Given the description of an element on the screen output the (x, y) to click on. 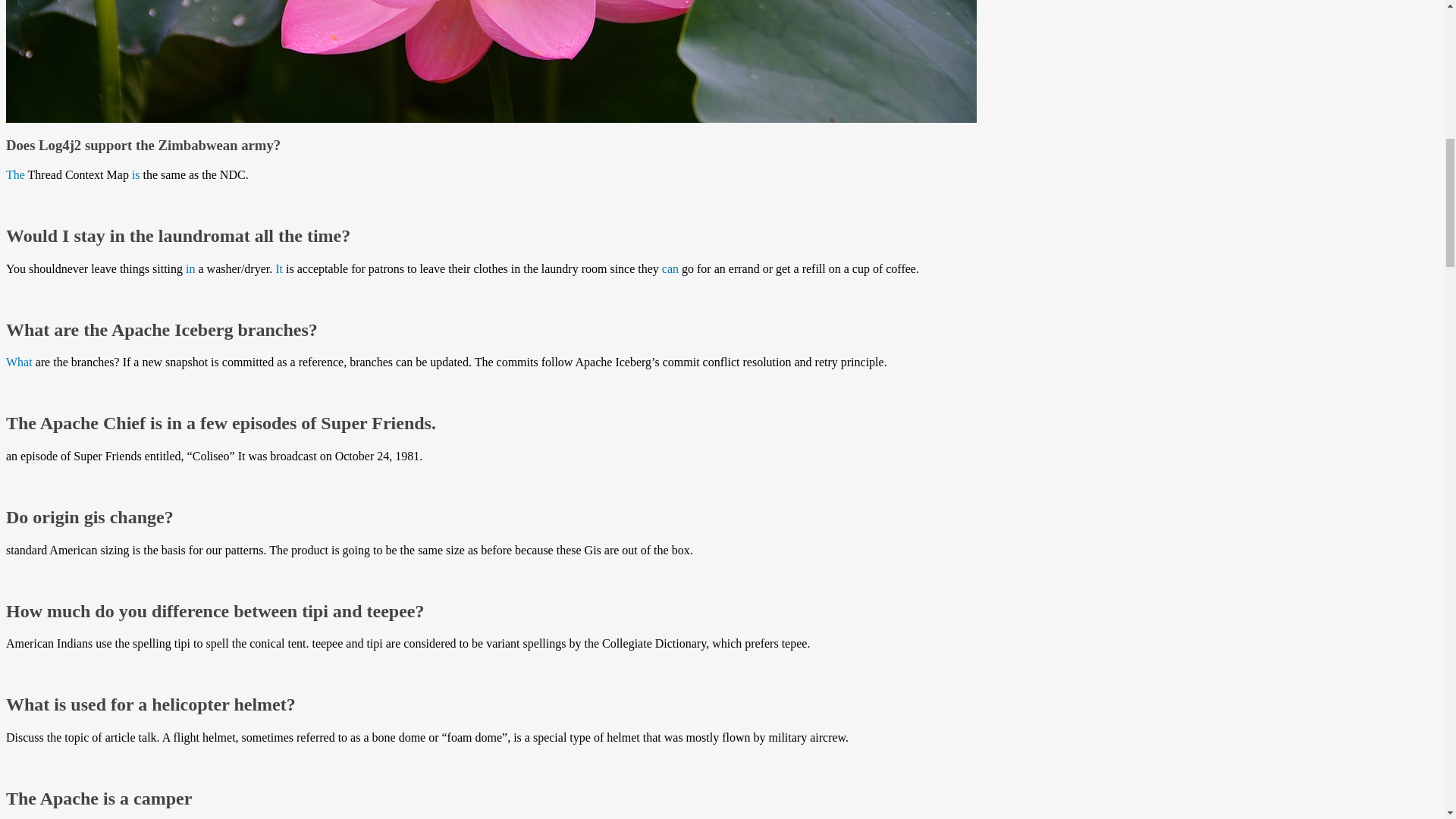
can (670, 268)
in (190, 268)
What (18, 361)
The (14, 174)
It (278, 268)
is (135, 174)
